Given the description of an element on the screen output the (x, y) to click on. 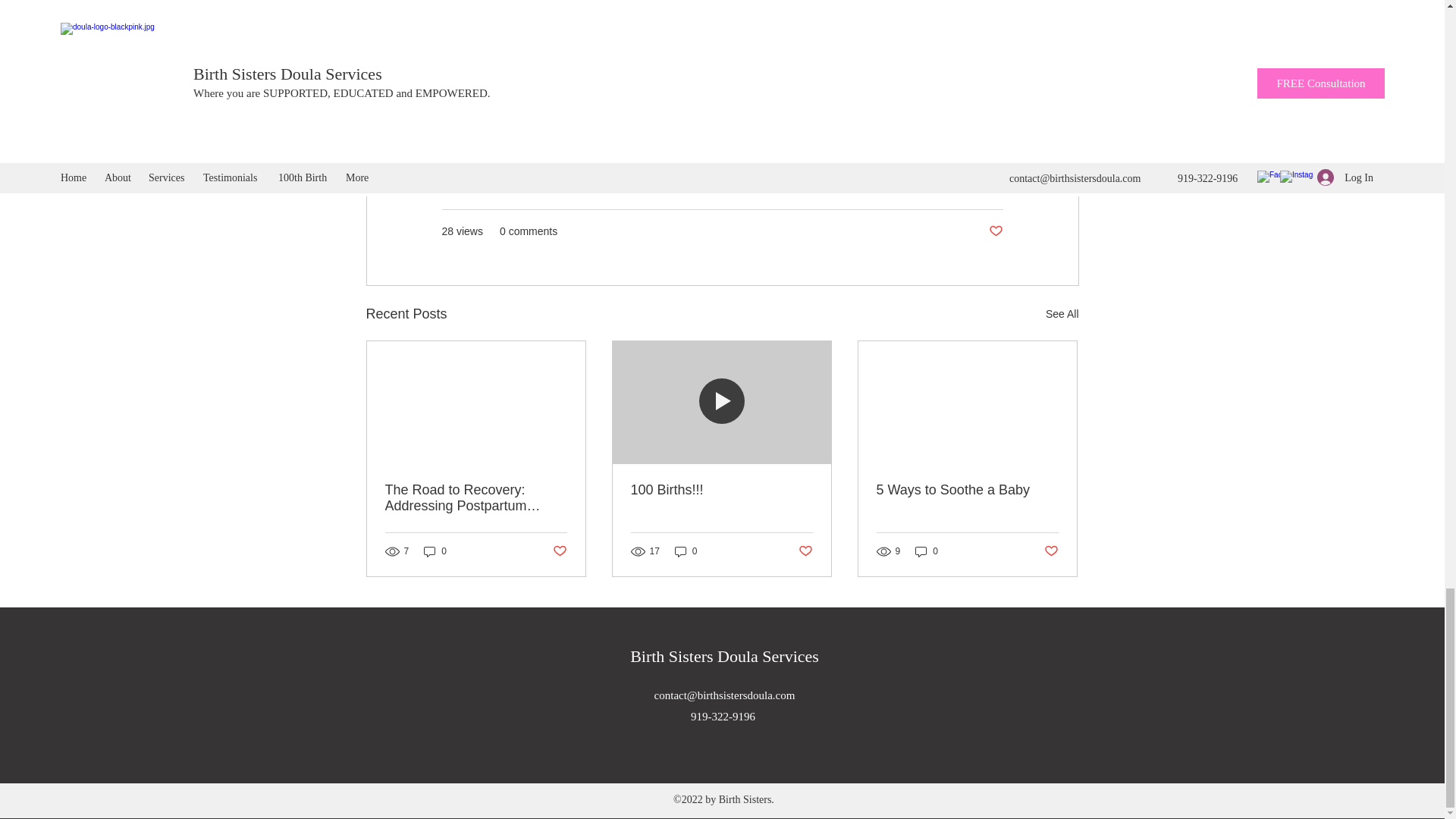
Post not marked as liked (1050, 551)
0 (435, 551)
See All (1061, 314)
0 (926, 551)
0 (685, 551)
5 Ways to Soothe a Baby (967, 489)
Post not marked as liked (804, 551)
Post not marked as liked (995, 231)
100 Births!!! (721, 489)
Post not marked as liked (558, 551)
